Given the description of an element on the screen output the (x, y) to click on. 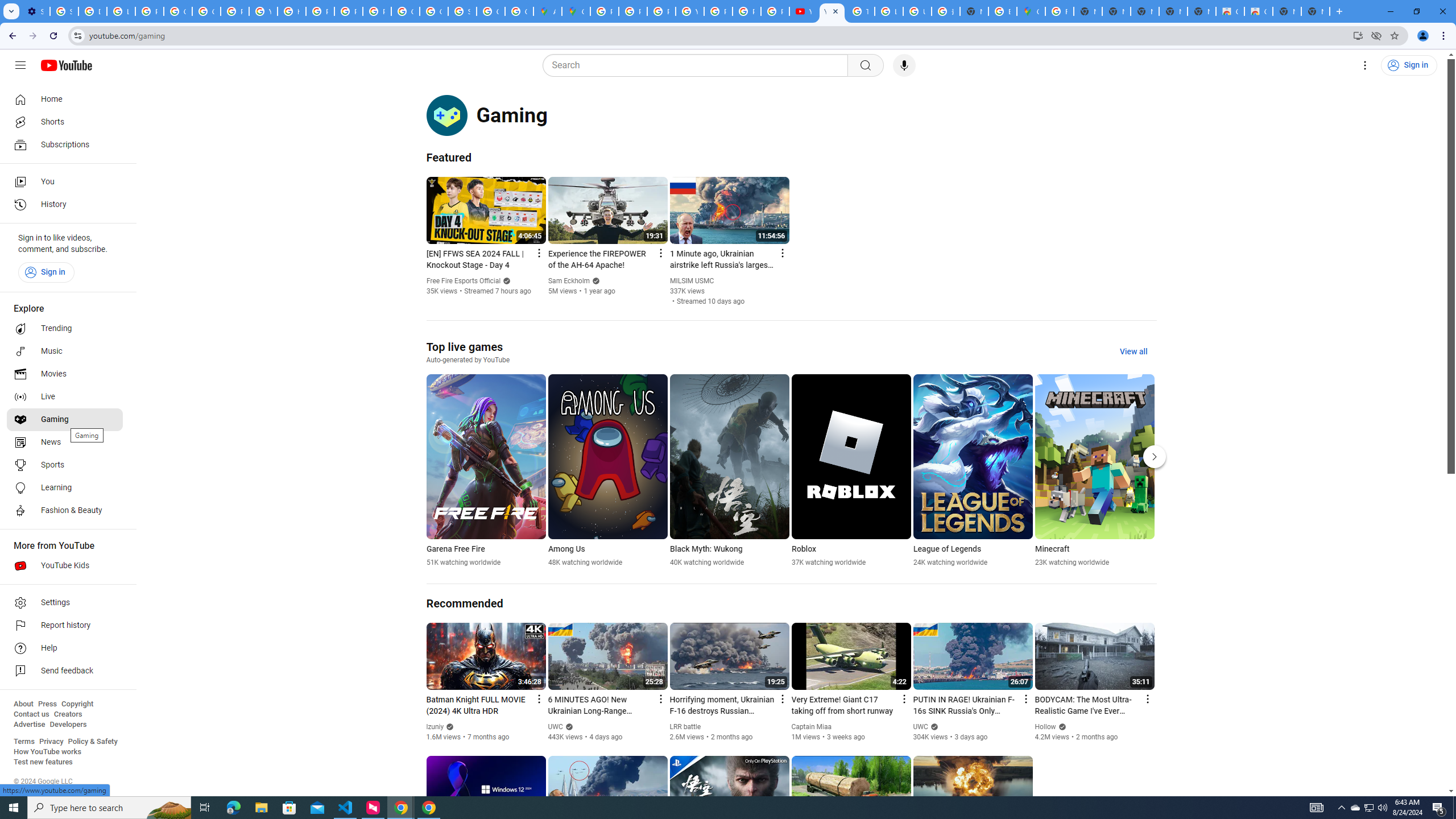
Fashion & Beauty (64, 510)
Copyright (77, 703)
News (64, 441)
Report history (64, 625)
Policy Accountability and Transparency - Transparency Center (604, 11)
Trending (64, 328)
Settings - On startup (35, 11)
Send feedback (64, 671)
Gaming (64, 419)
